Given the description of an element on the screen output the (x, y) to click on. 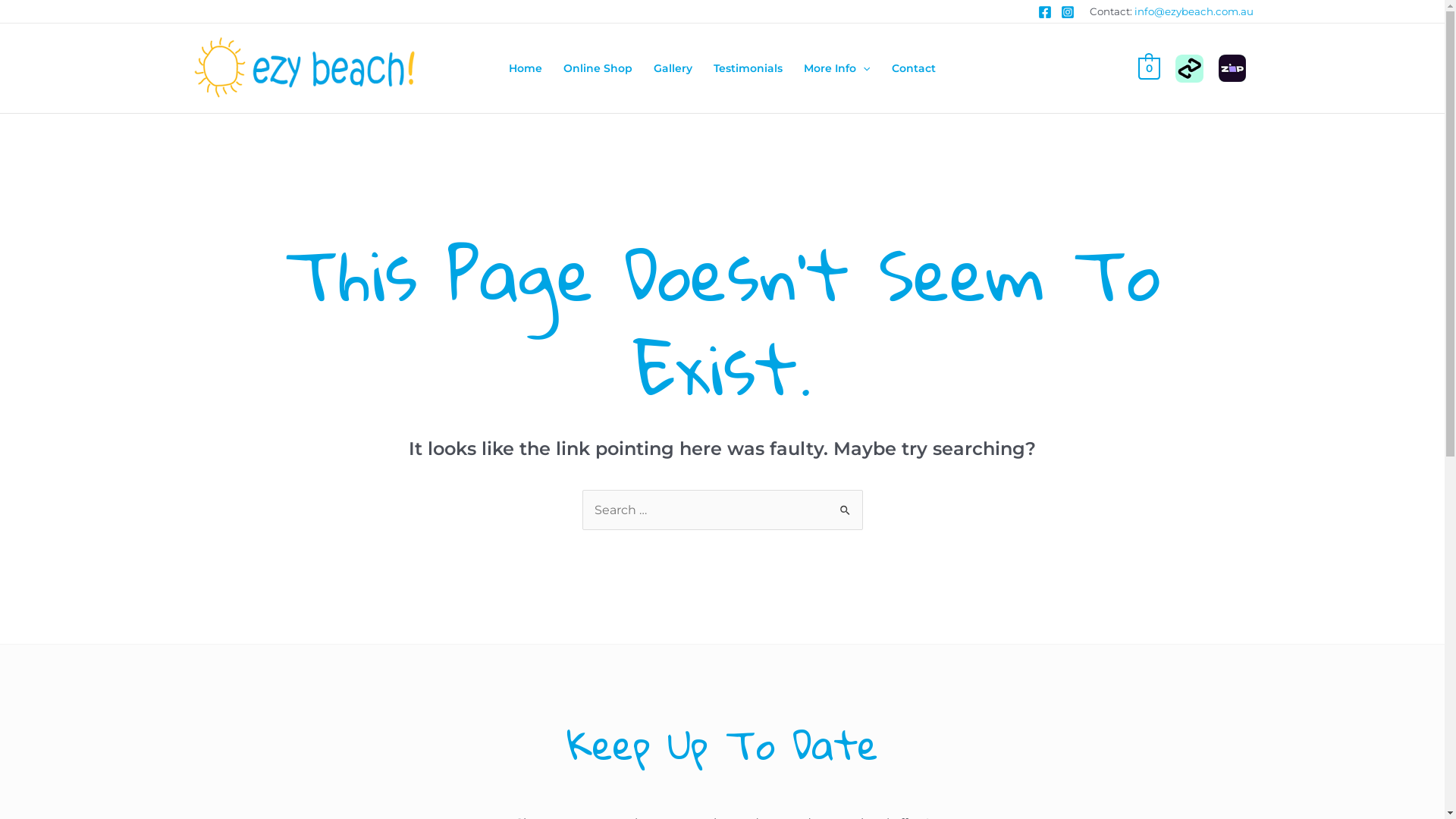
Contact Element type: text (913, 67)
Testimonials Element type: text (747, 67)
0 Element type: text (1149, 67)
Online Shop Element type: text (597, 67)
More Info Element type: text (836, 67)
Gallery Element type: text (672, 67)
Home Element type: text (525, 67)
Search Element type: text (845, 504)
info@ezybeach.com.au Element type: text (1193, 10)
